Given the description of an element on the screen output the (x, y) to click on. 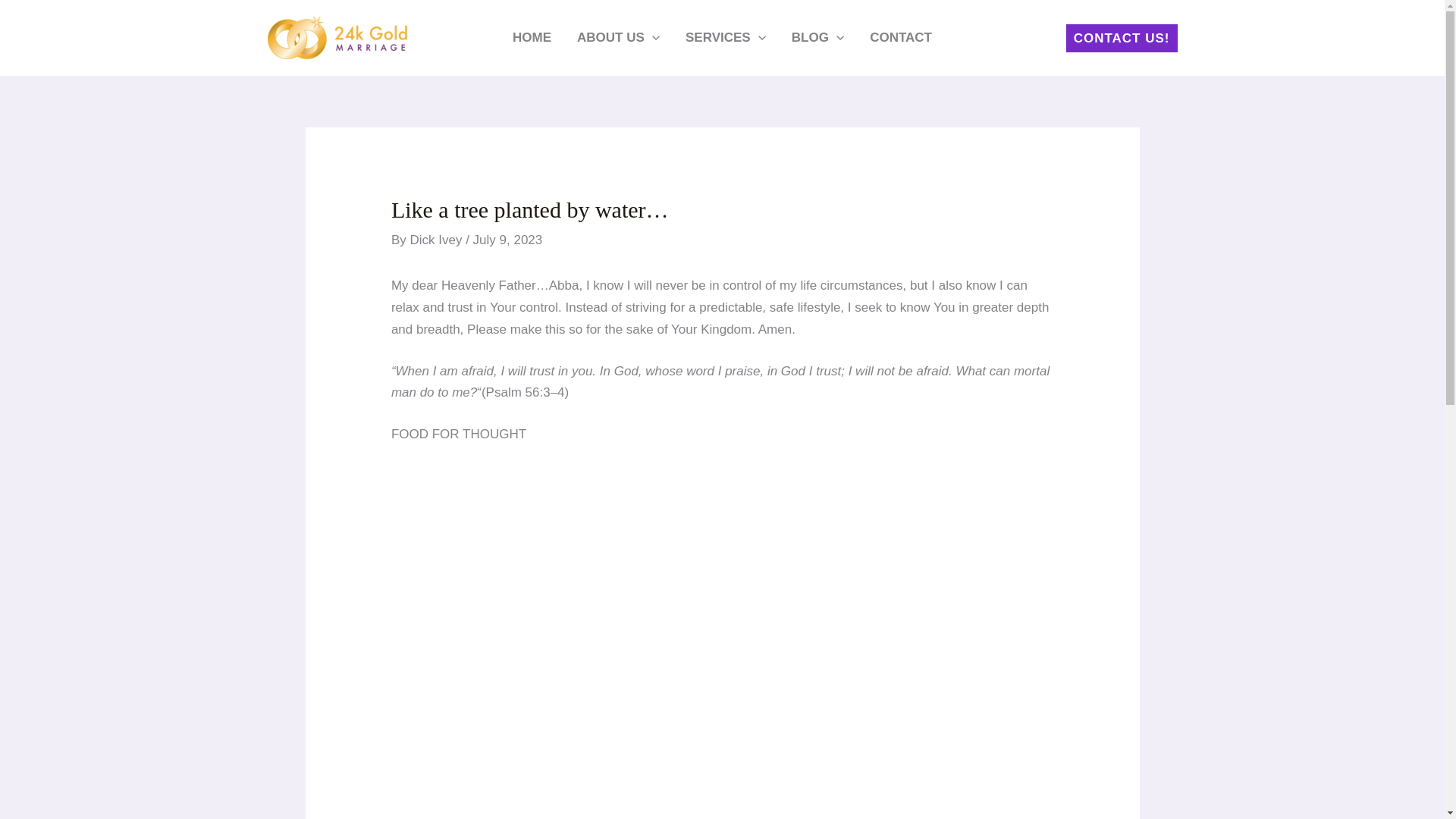
SERVICES (725, 38)
CONTACT (900, 38)
ABOUT US (618, 38)
BLOG (817, 38)
CONTACT US! (1121, 38)
Dick Ivey (437, 239)
View all posts by Dick Ivey (437, 239)
